Given the description of an element on the screen output the (x, y) to click on. 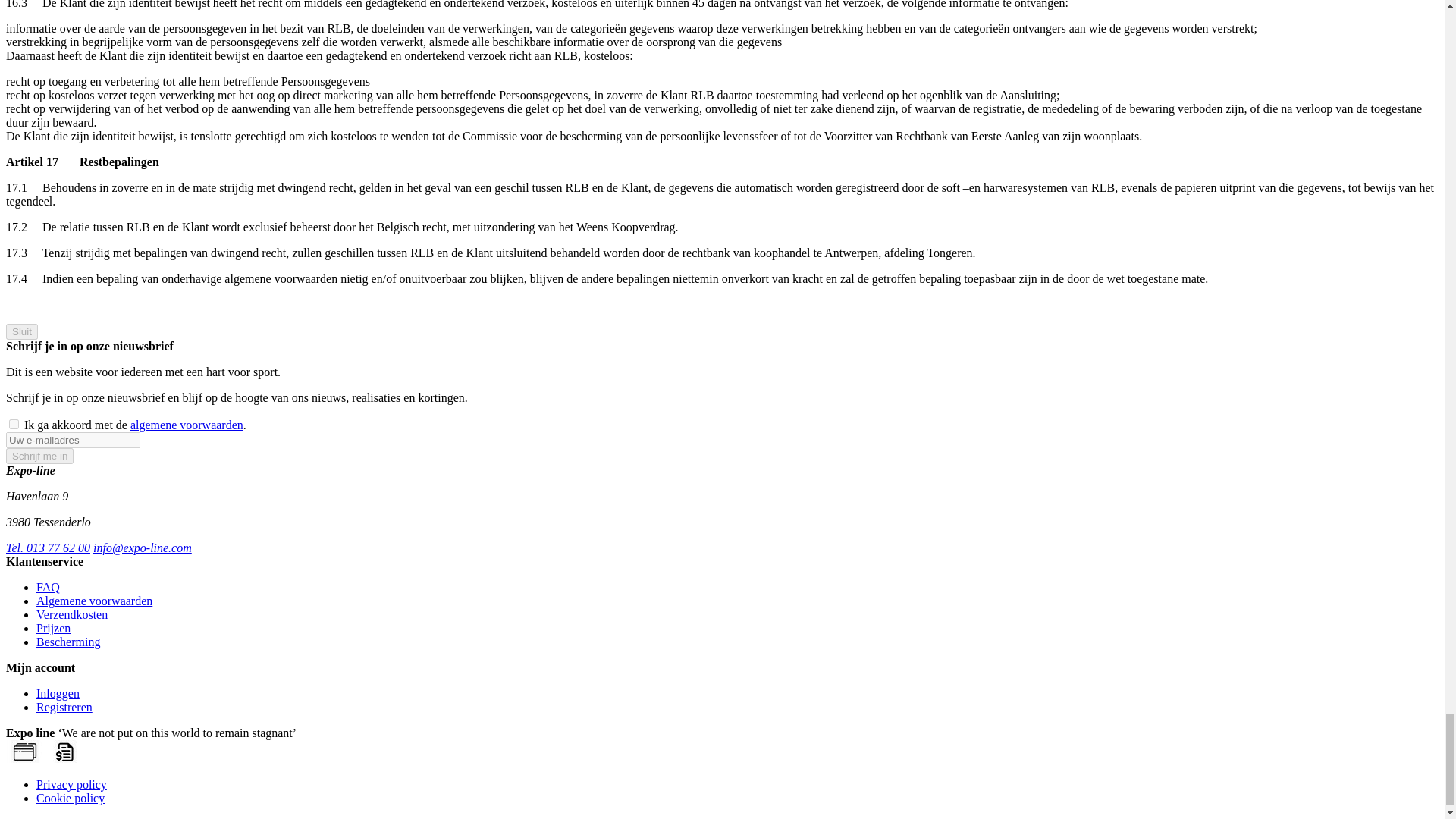
on (13, 424)
